Given the description of an element on the screen output the (x, y) to click on. 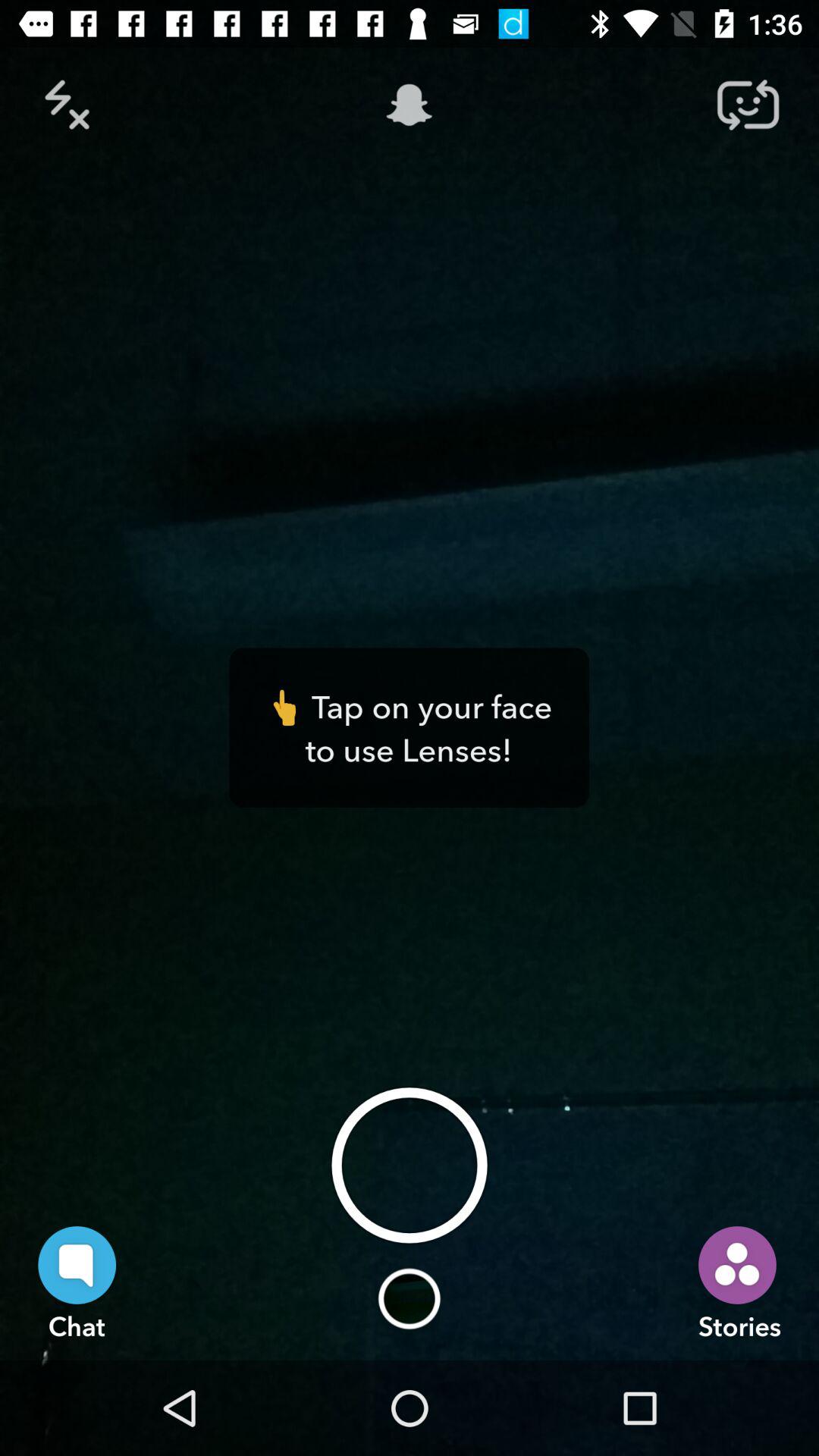
close mark (70, 104)
